Given the description of an element on the screen output the (x, y) to click on. 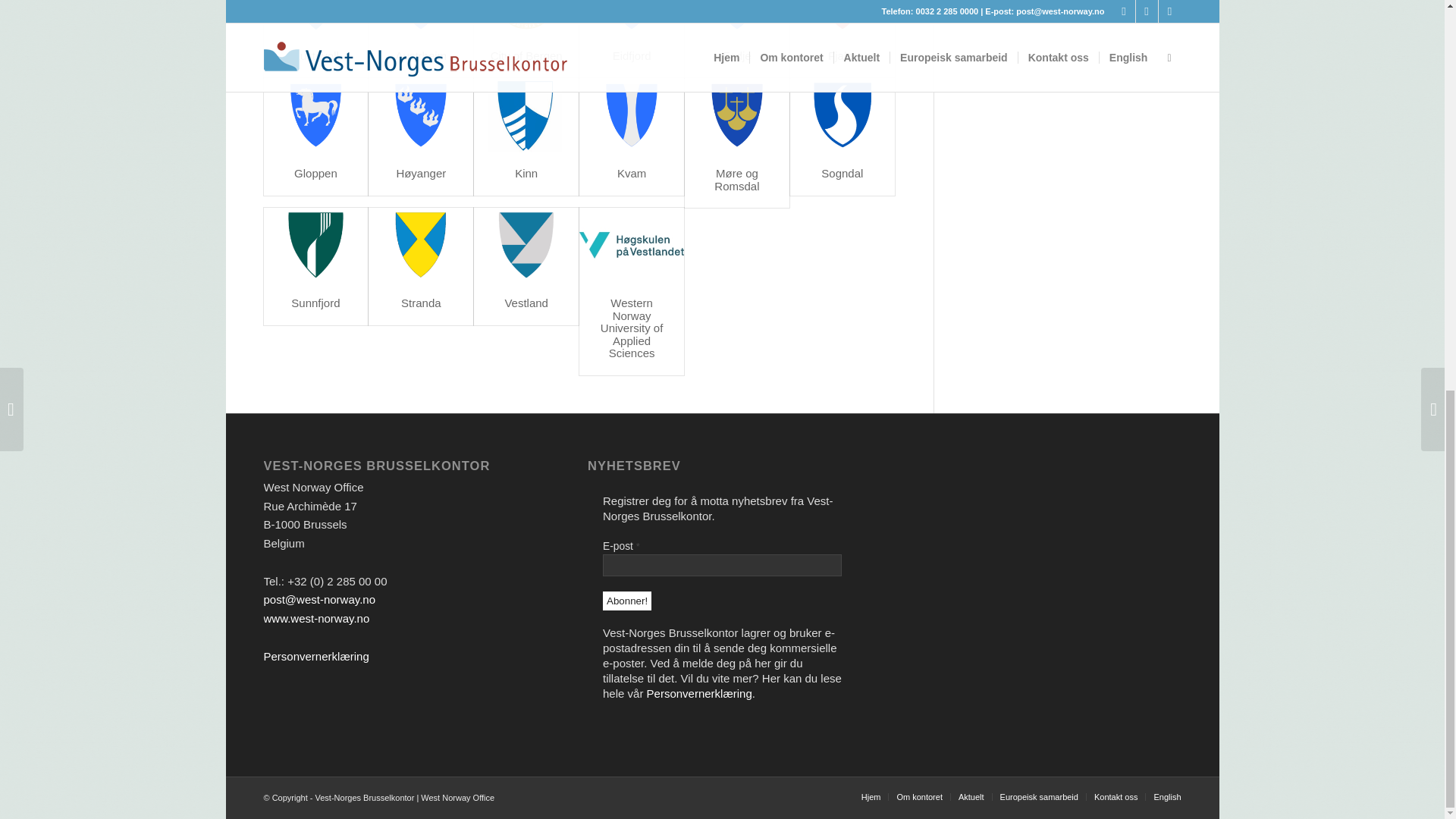
Abonner! (626, 600)
Austevoll (315, 55)
Austrheim (421, 55)
